Given the description of an element on the screen output the (x, y) to click on. 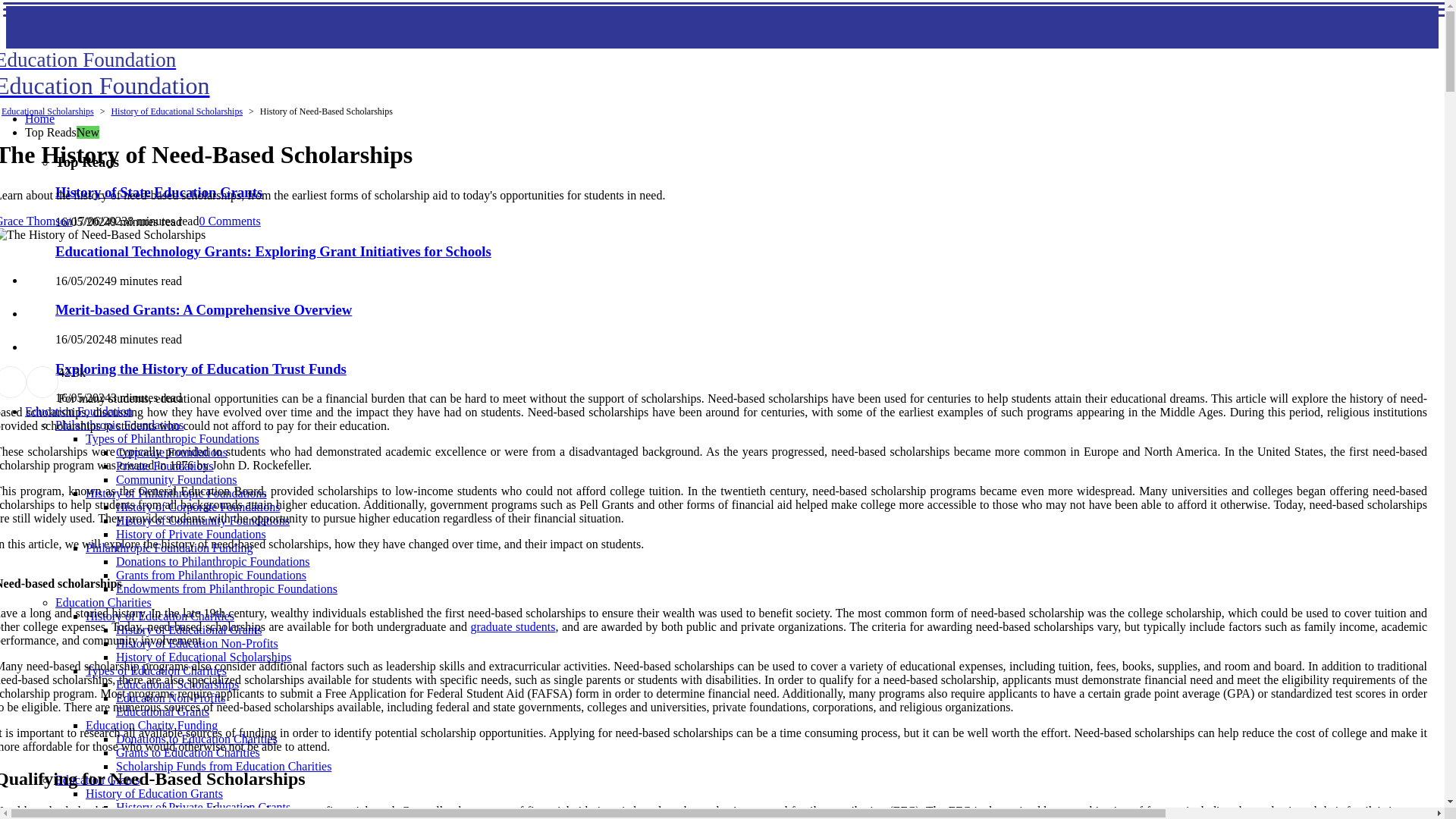
History of Education Grants (153, 793)
Types of Education Charities (156, 670)
Home (39, 118)
Top ReadsNew (61, 132)
History of Education Non-Profits (197, 643)
Types of Philanthropic Foundations (172, 438)
Donations to Philanthropic Foundations (213, 561)
History of Education Charities (159, 615)
History of Educational Grants (189, 629)
